Given the description of an element on the screen output the (x, y) to click on. 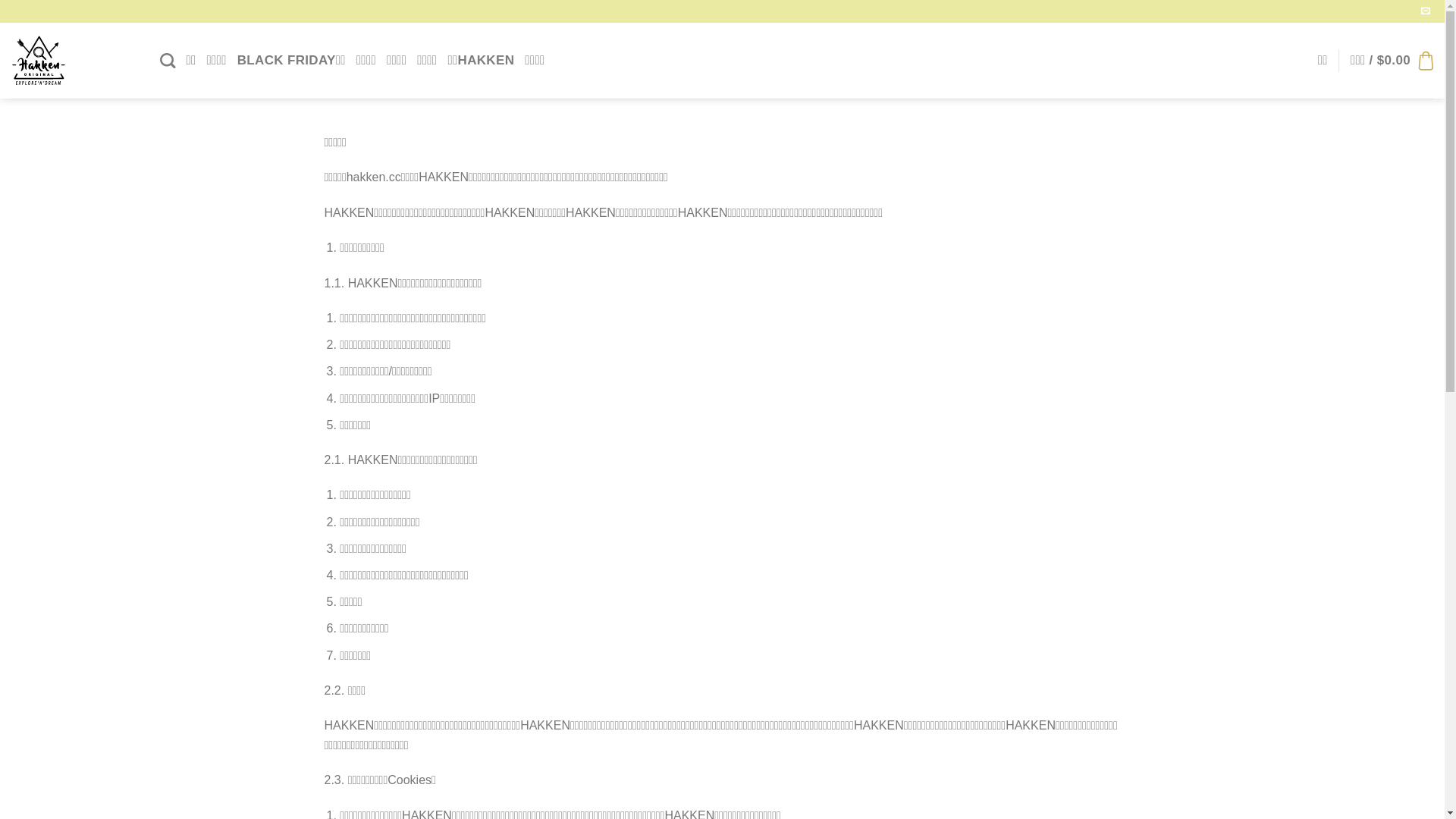
HAKKEN - HAKKEN Element type: hover (74, 60)
